Given the description of an element on the screen output the (x, y) to click on. 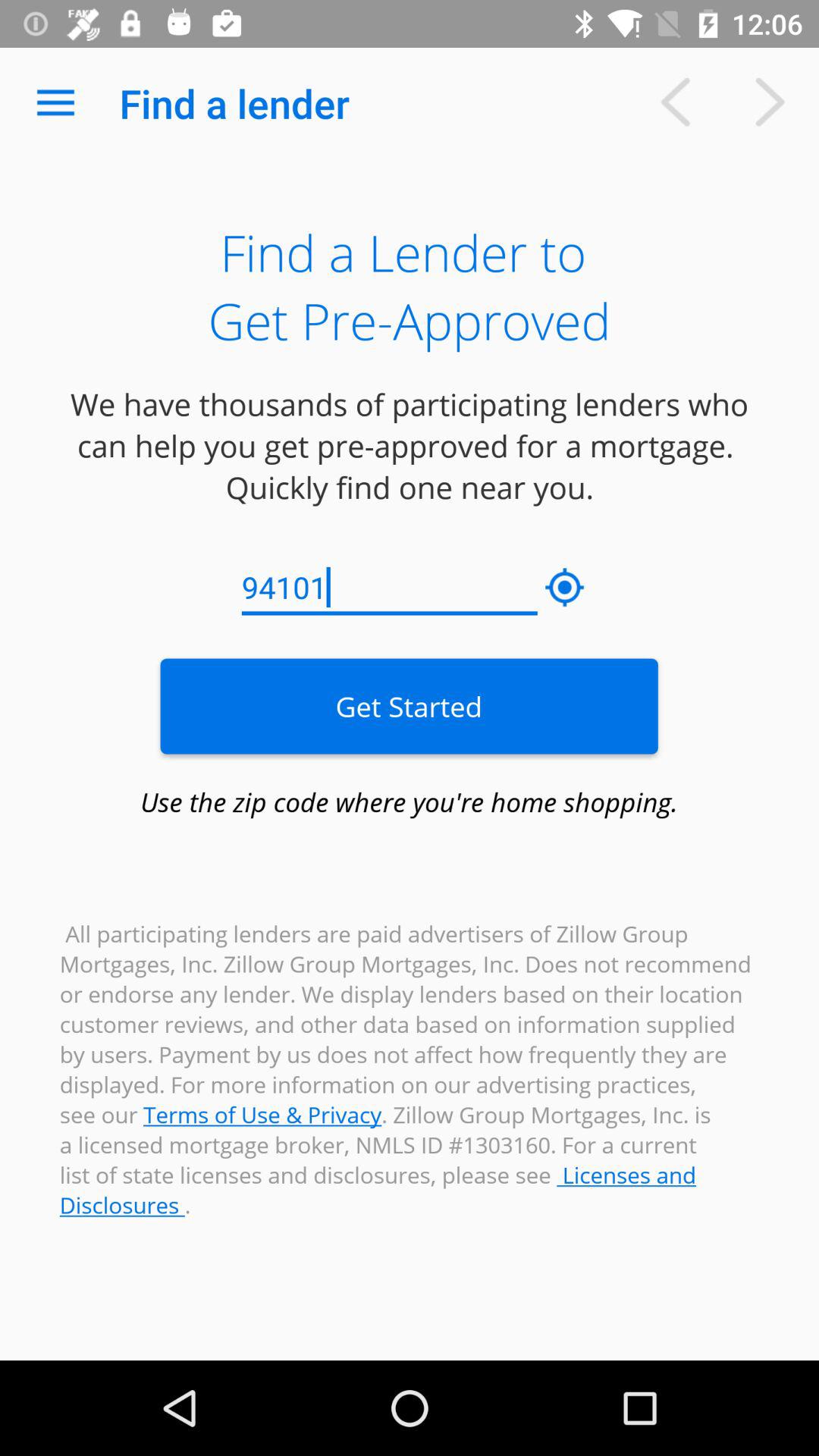
open item above the use the zip (409, 706)
